Given the description of an element on the screen output the (x, y) to click on. 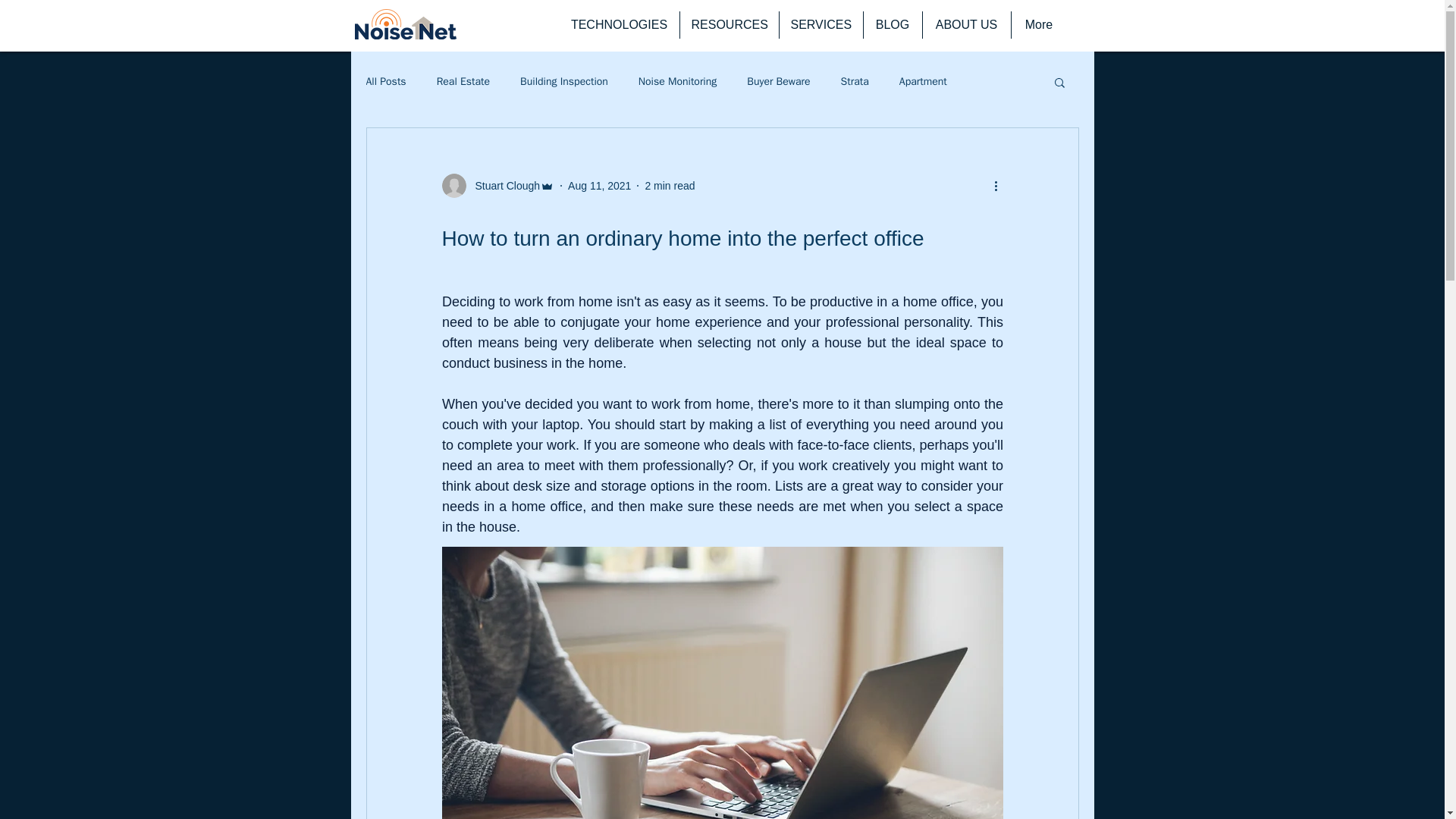
Buyer Beware (777, 81)
Log In (1035, 66)
Strata (855, 81)
2 min read (669, 184)
Stuart Clough (502, 185)
ABOUT US (965, 24)
All Posts (385, 81)
BLOG (892, 24)
Apartment (923, 81)
Noise Monitoring (677, 81)
Real Estate (462, 81)
Building Inspection (563, 81)
Aug 11, 2021 (598, 184)
